Given the description of an element on the screen output the (x, y) to click on. 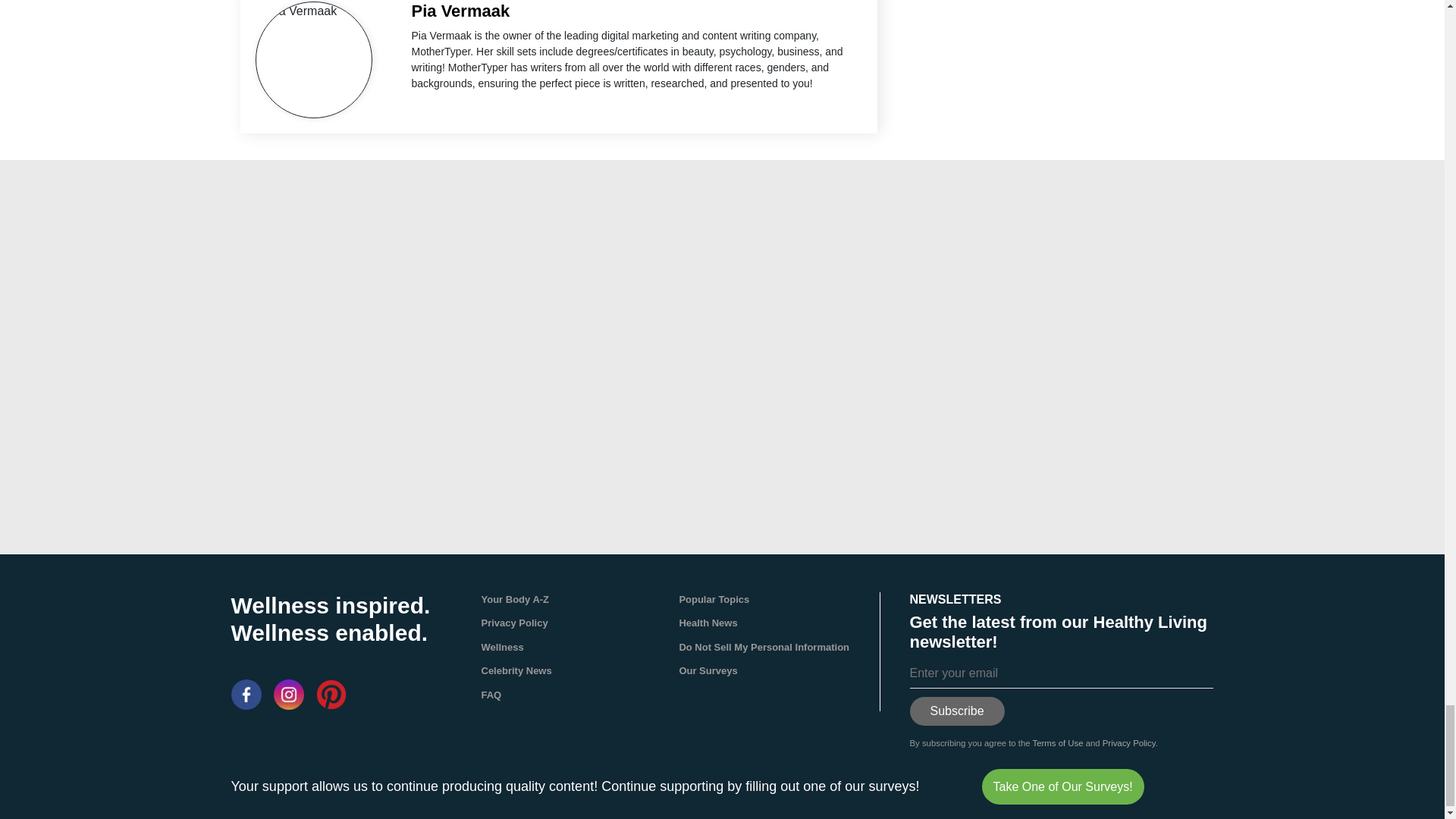
Subscribe (957, 710)
